Given the description of an element on the screen output the (x, y) to click on. 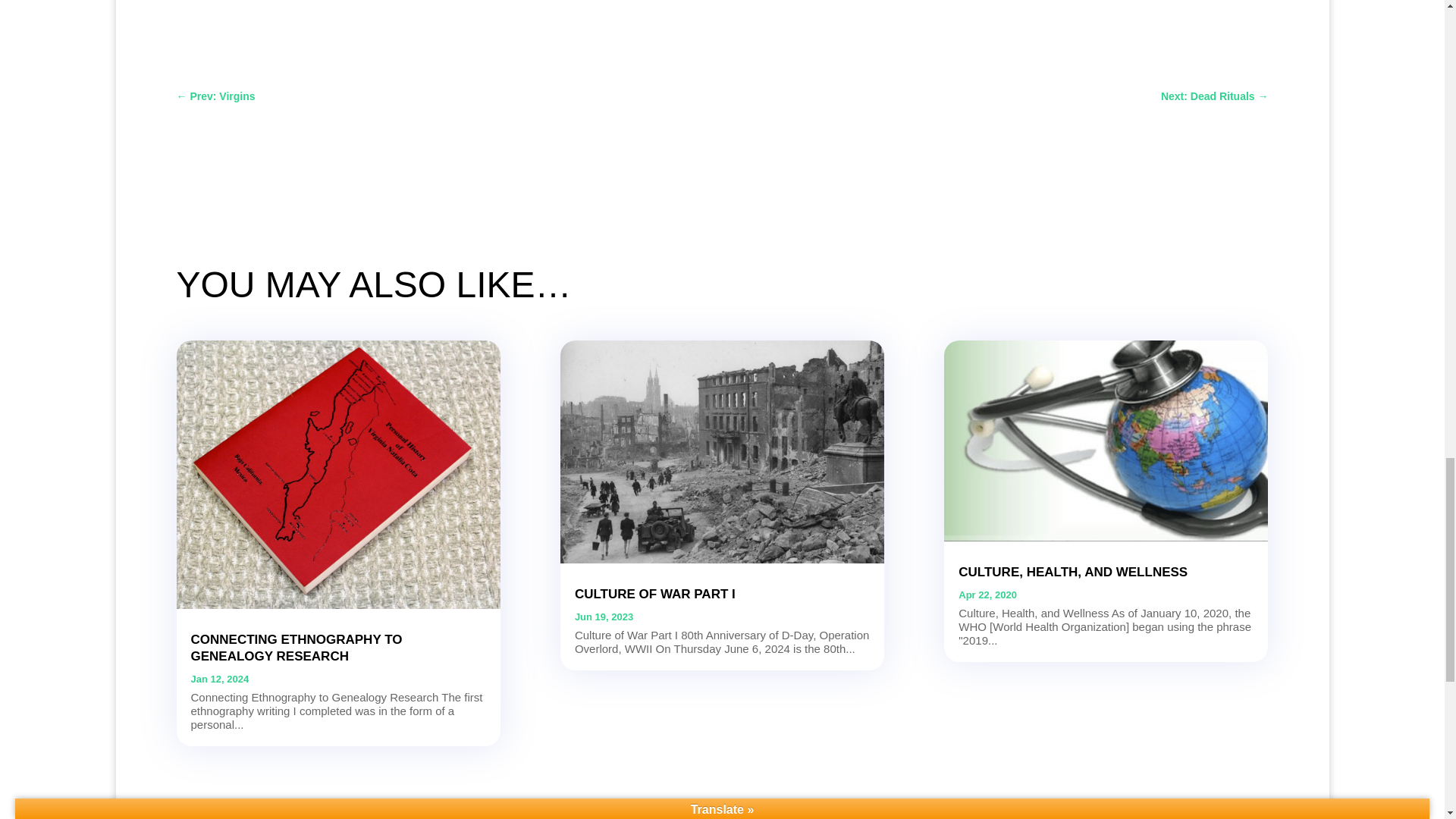
CONNECTING ETHNOGRAPHY TO GENEALOGY RESEARCH (296, 647)
